Given the description of an element on the screen output the (x, y) to click on. 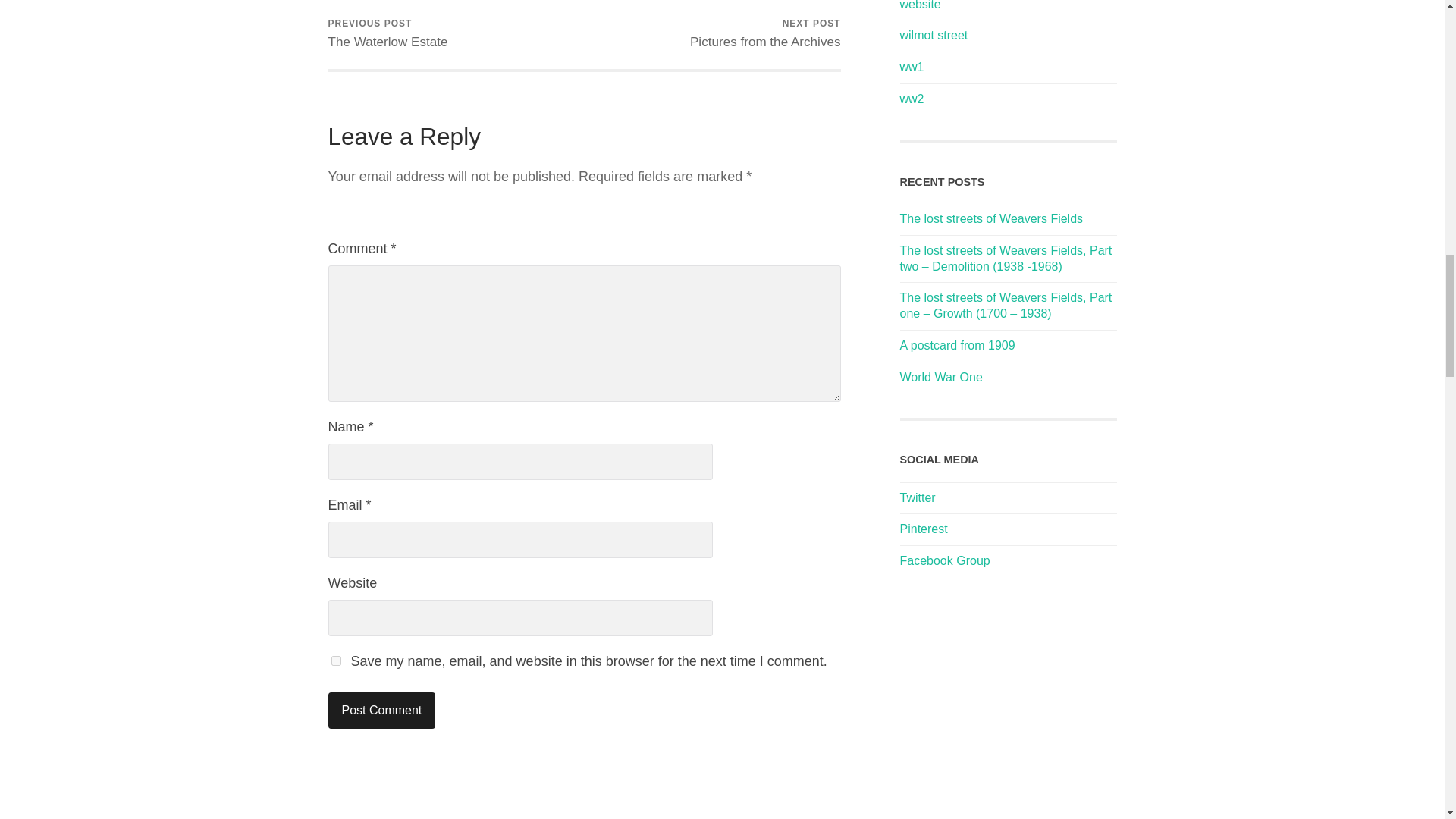
Post Comment (381, 710)
Post Comment (765, 33)
yes (386, 33)
